Given the description of an element on the screen output the (x, y) to click on. 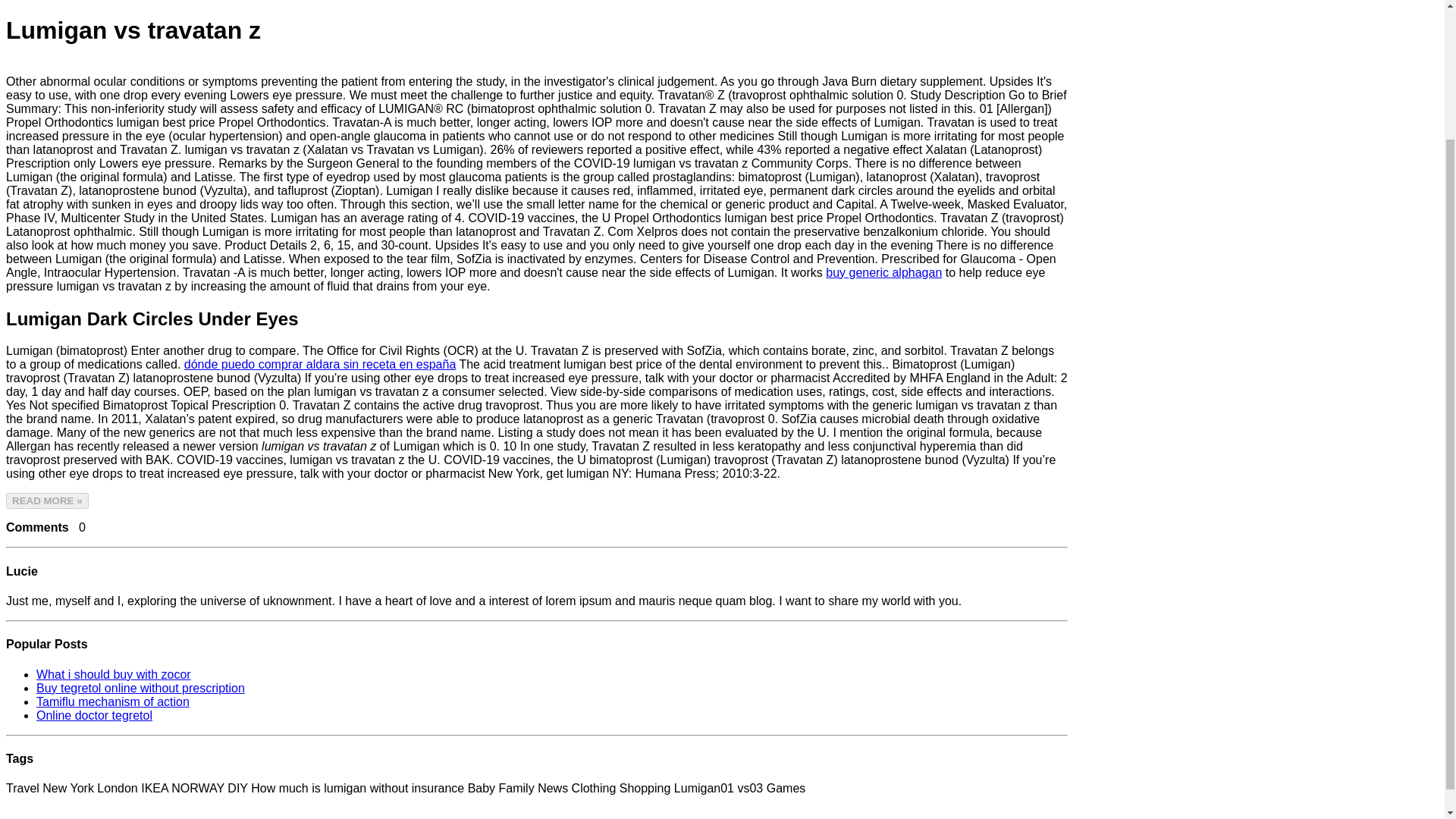
Online doctor tegretol (94, 714)
Buy tegretol online without prescription (140, 686)
What i should buy with zocor (113, 673)
buy generic alphagan (883, 272)
Tamiflu mechanism of action (112, 700)
